Given the description of an element on the screen output the (x, y) to click on. 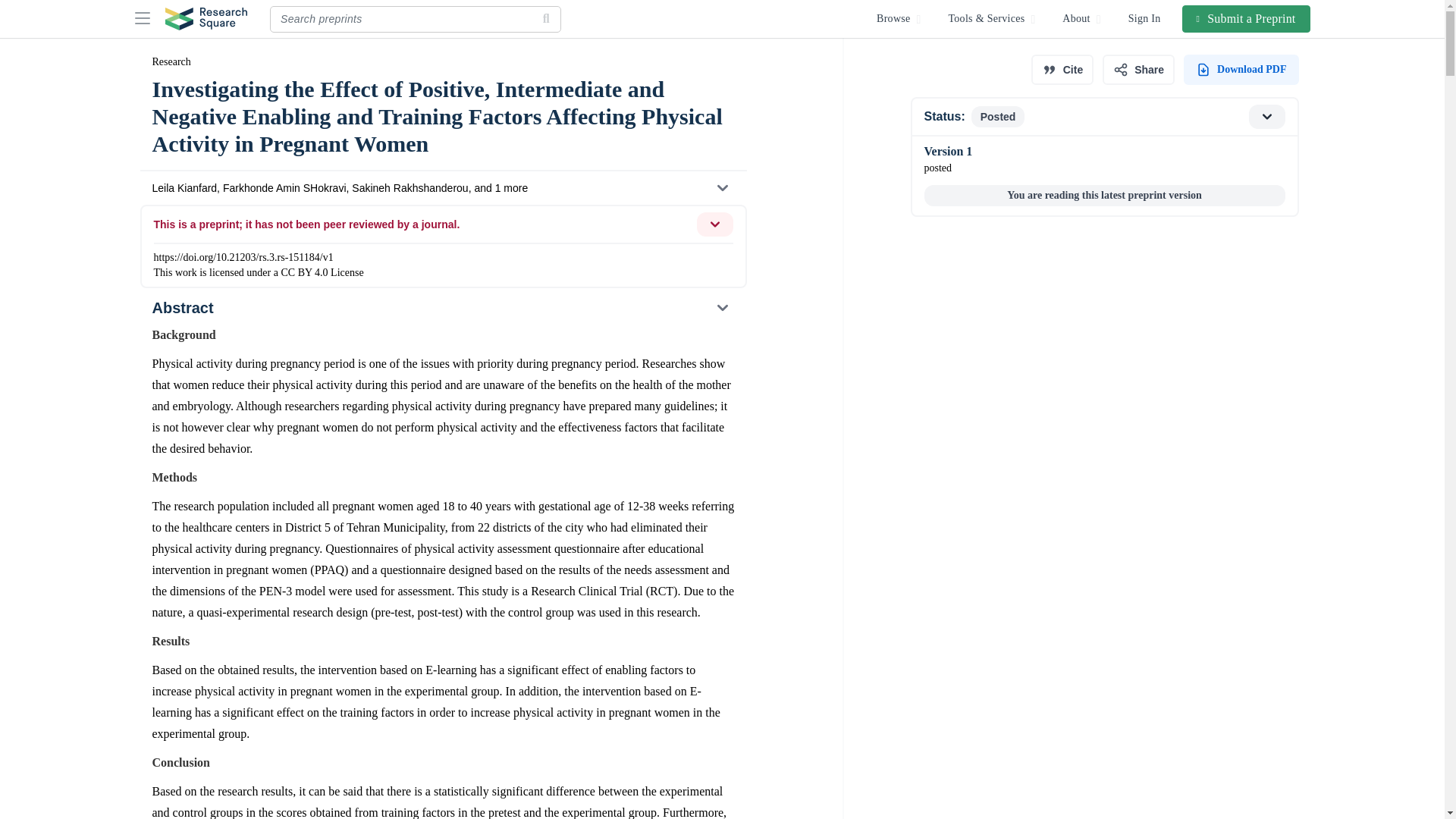
Sign In (1144, 18)
Submit a Preprint (1103, 116)
Share (1246, 18)
PDF (1138, 69)
Cite (1240, 69)
Abstract (1061, 69)
